Given the description of an element on the screen output the (x, y) to click on. 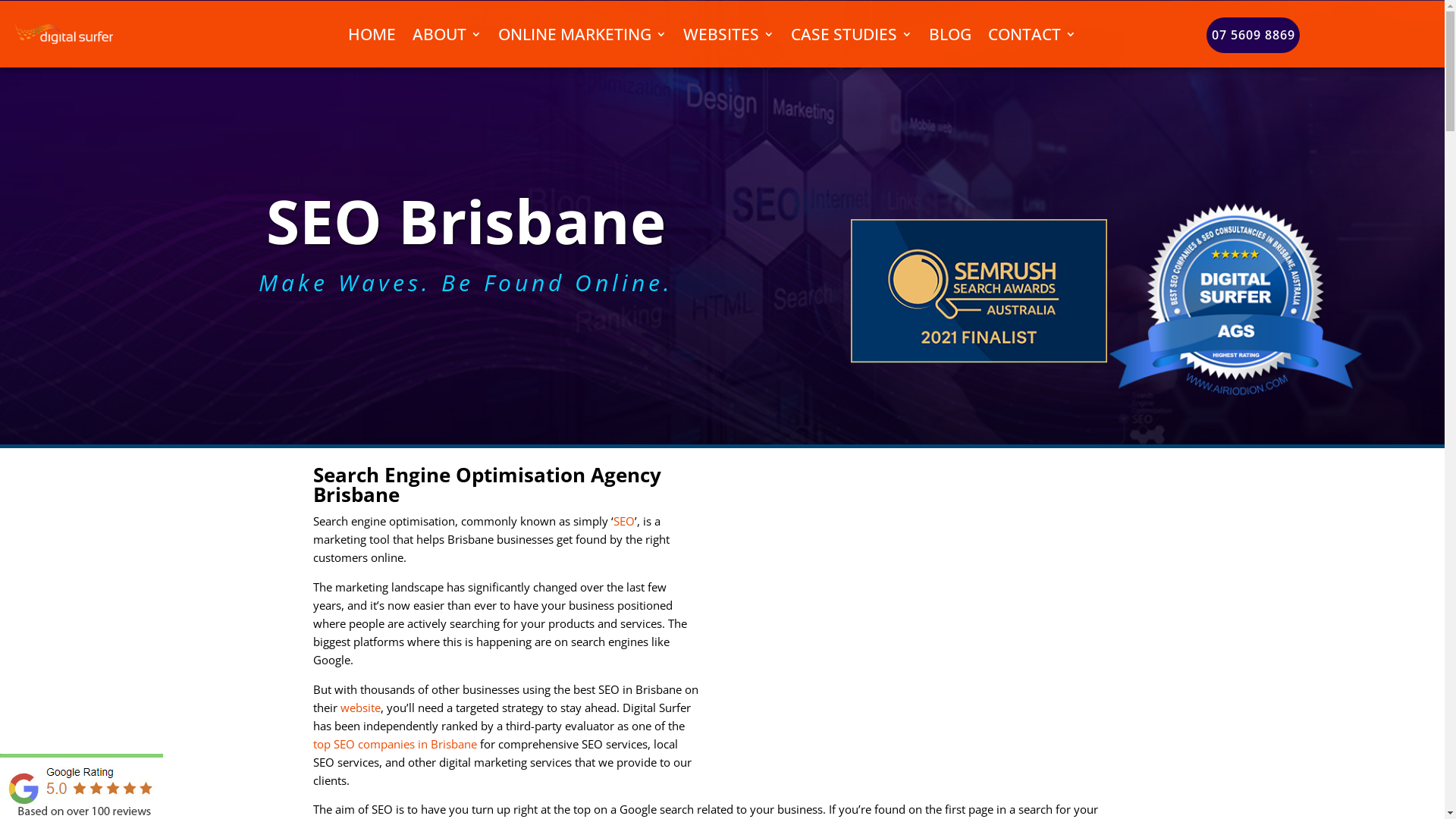
BLOG Element type: text (949, 33)
ONLINE MARKETING Element type: text (582, 33)
CONTACT Element type: text (1032, 33)
top SEO companies in Brisbane Element type: text (394, 743)
SEO - Explained in plain English Element type: hover (937, 573)
ABOUT Element type: text (446, 33)
HOME Element type: text (371, 33)
website Element type: text (359, 707)
CASE STUDIES Element type: text (851, 33)
WEBSITES Element type: text (728, 33)
07 5609 8869 Element type: text (1252, 35)
SEO Element type: text (622, 520)
